Given the description of an element on the screen output the (x, y) to click on. 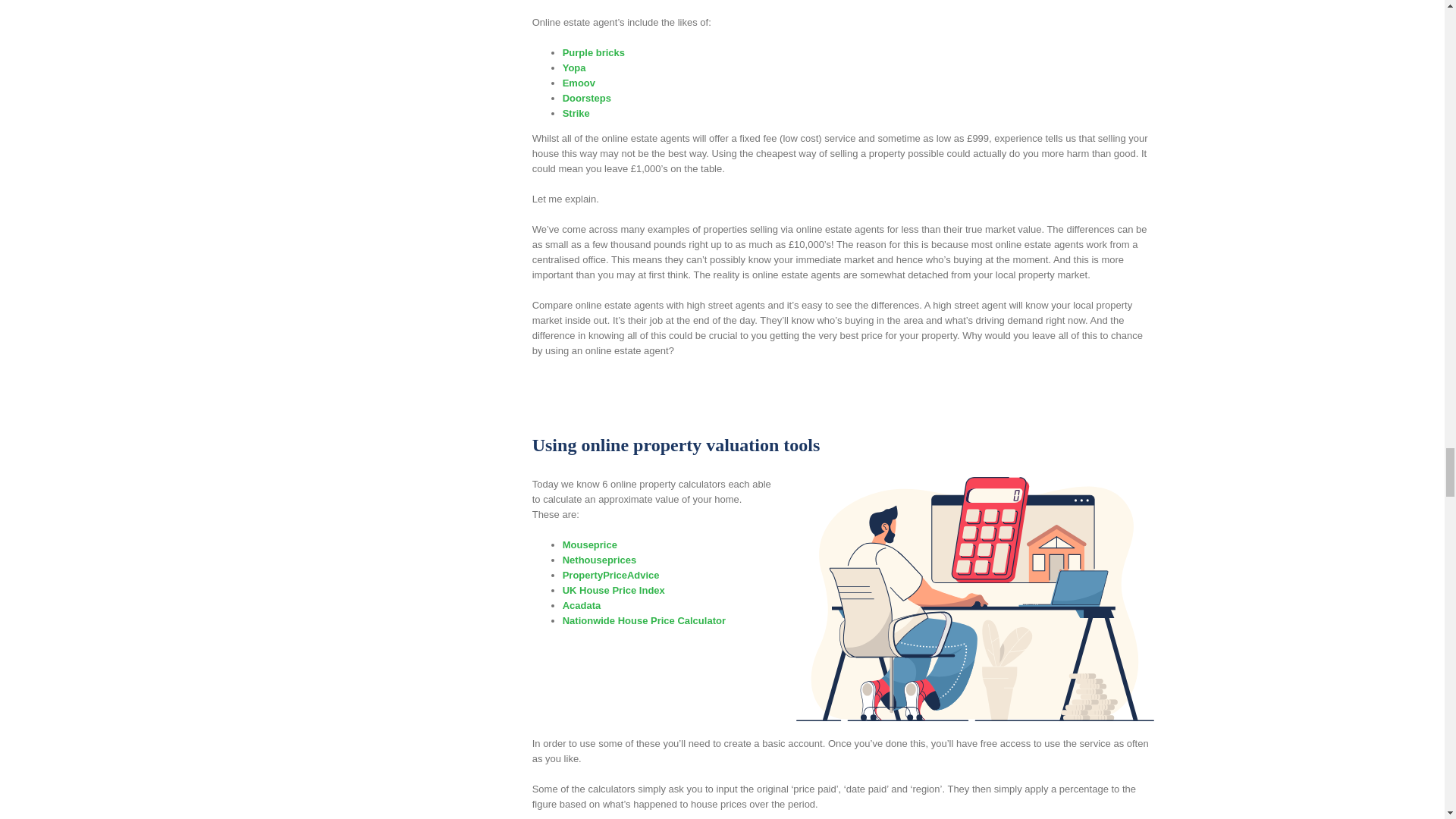
Property calculator (975, 598)
